Given the description of an element on the screen output the (x, y) to click on. 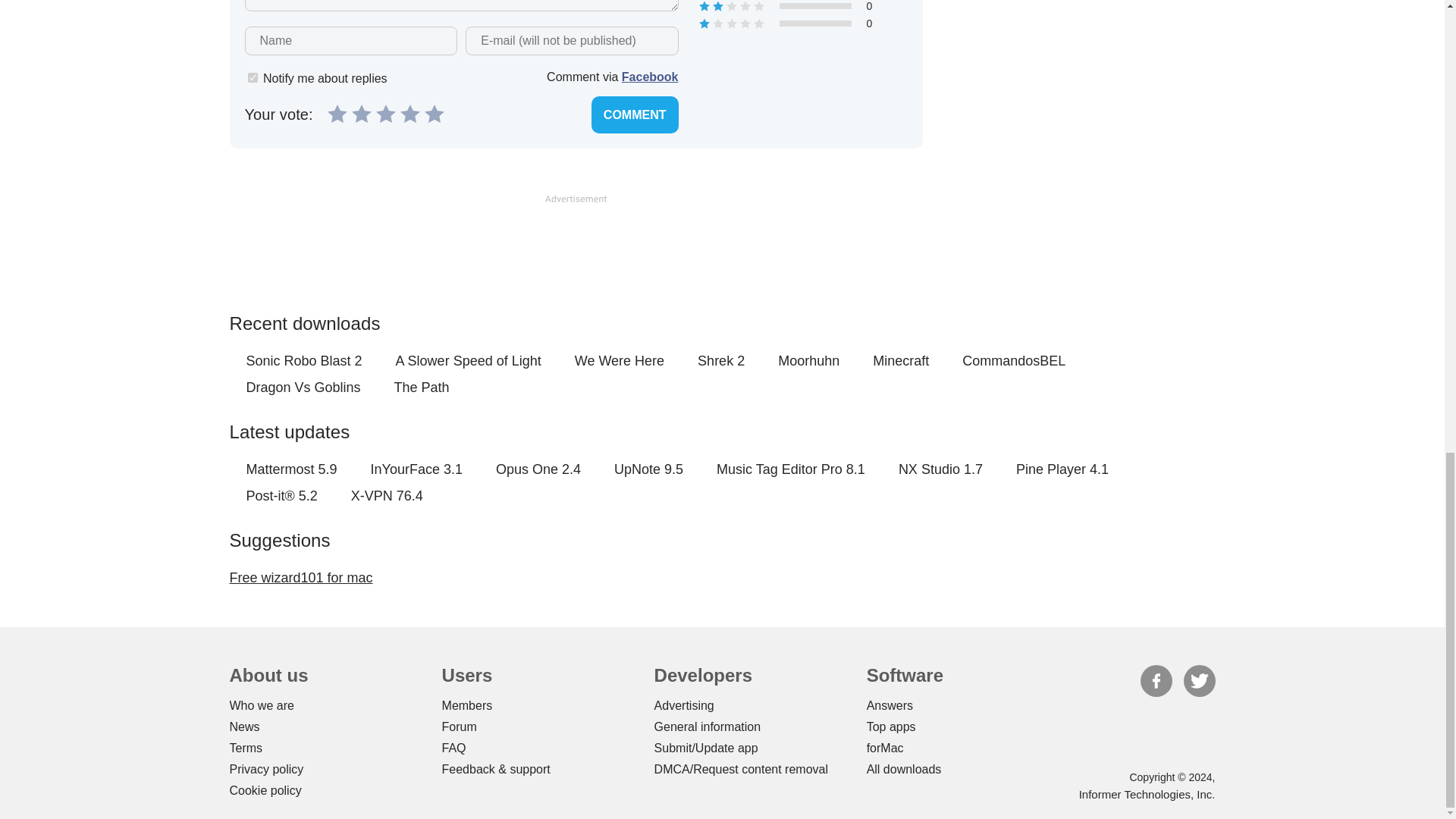
Sonic Robo Blast 2 (303, 360)
Comment (634, 114)
4 (409, 113)
A Slower Speed of Light (468, 360)
Comment (634, 114)
1 (252, 77)
2 (361, 113)
5 (434, 113)
3 (385, 113)
1 (336, 113)
